Given the description of an element on the screen output the (x, y) to click on. 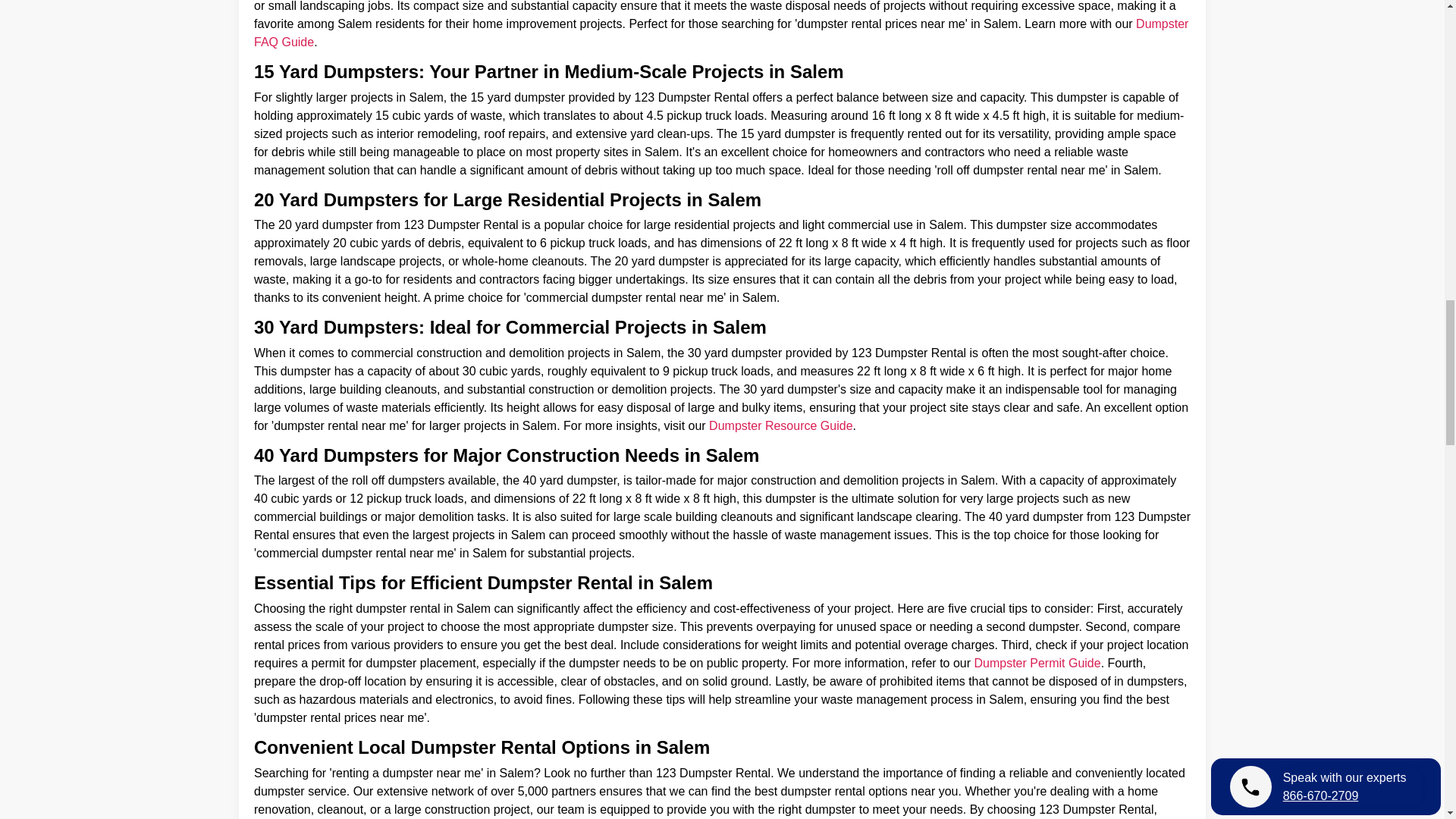
Dumpster Resource Guide (780, 425)
Dumpster FAQ Guide (720, 32)
Dumpster Permit Guide (1037, 662)
